Given the description of an element on the screen output the (x, y) to click on. 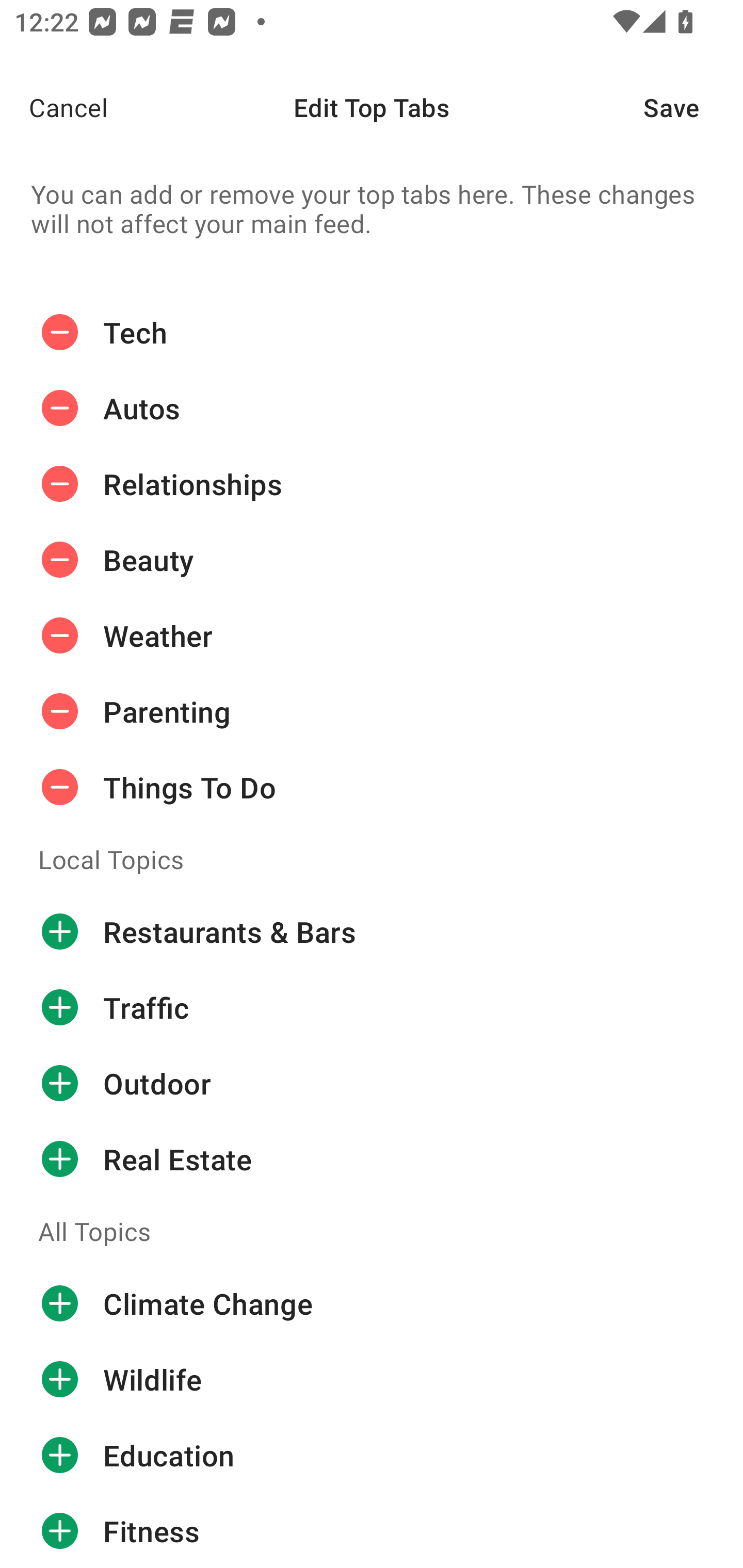
Cancel (53, 106)
Save (693, 106)
Tech (371, 332)
Autos (371, 408)
Relationships (371, 484)
Beauty (371, 559)
Weather (371, 635)
Parenting (371, 711)
Things To Do (371, 786)
Restaurants & Bars (371, 931)
Traffic (371, 1007)
Outdoor (371, 1083)
Real Estate (371, 1158)
Climate Change (371, 1303)
Wildlife (371, 1379)
Education (371, 1454)
Fitness (371, 1530)
